Given the description of an element on the screen output the (x, y) to click on. 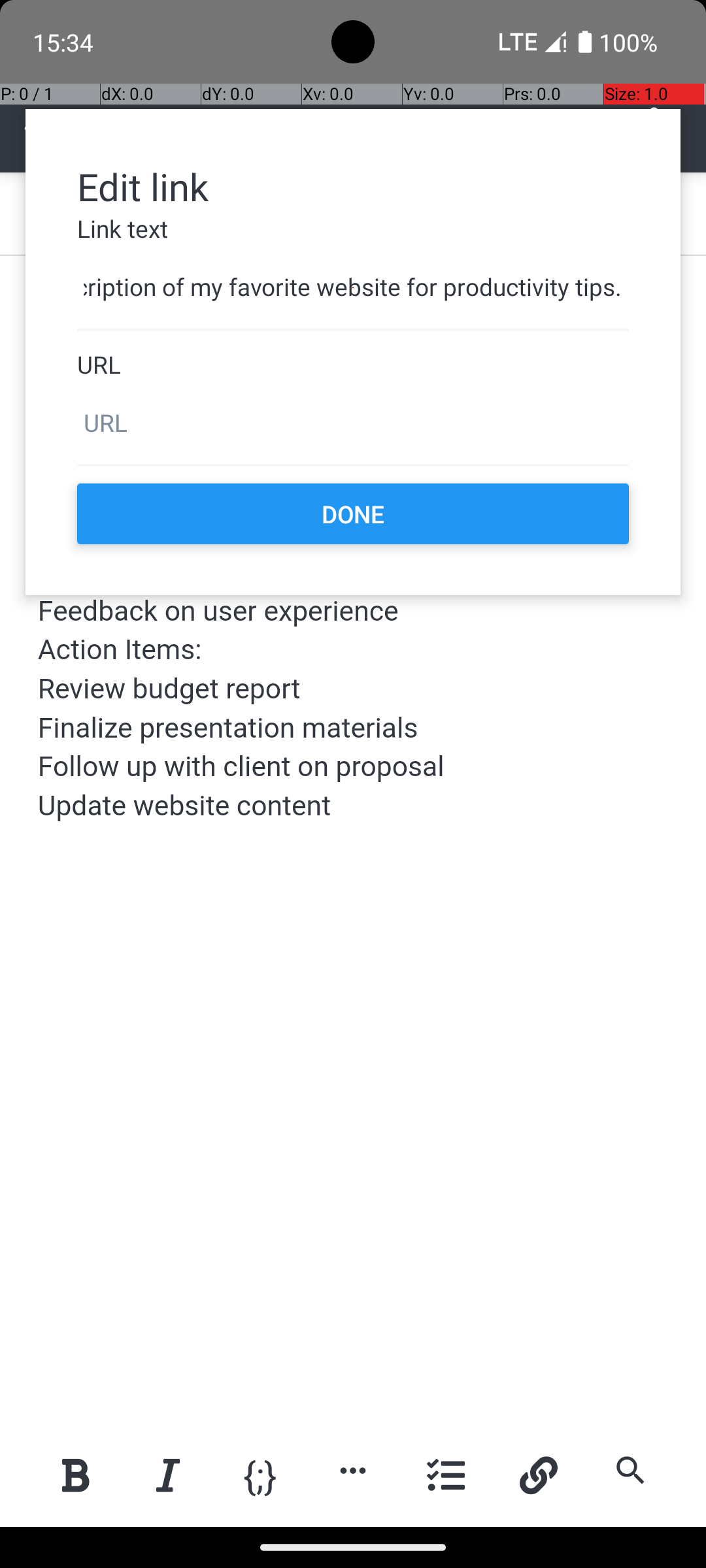
Edit link Element type: android.widget.TextView (352, 185)
Link text Element type: android.widget.TextView (352, 228)
A description of my favorite website for productivity tips. Element type: android.widget.EditText (352, 287)
URL Element type: android.widget.TextView (352, 363)
DONE Element type: android.widget.TextView (352, 513)
